Given the description of an element on the screen output the (x, y) to click on. 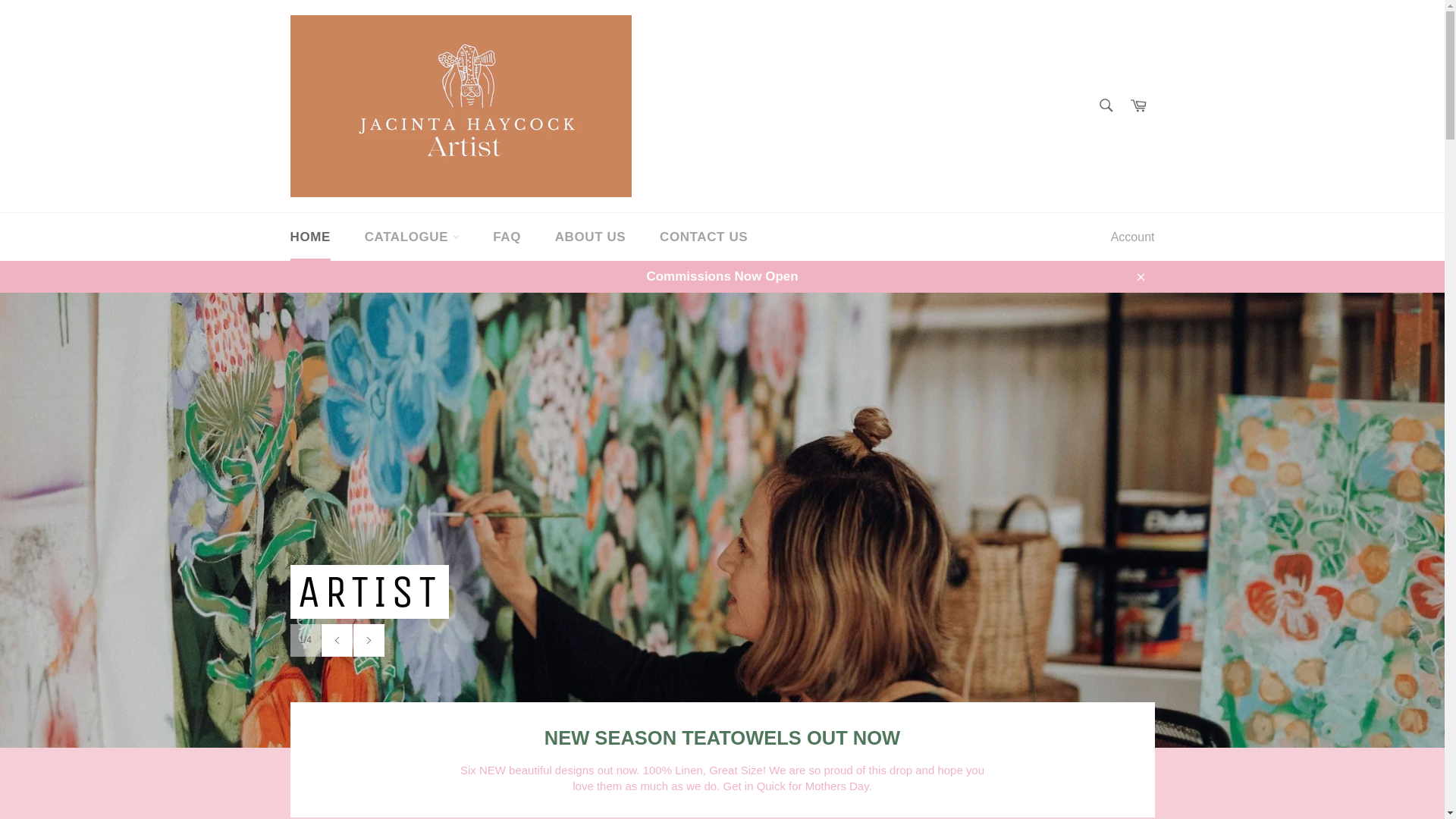
Previous slide Element type: text (336, 640)
CONTACT US Element type: text (703, 236)
CATALOGUE Element type: text (411, 236)
Close Element type: text (1138, 276)
ABOUT US Element type: text (590, 236)
FAQ Element type: text (506, 236)
Search Element type: text (1105, 105)
Cart Element type: text (1138, 106)
Account Element type: text (1132, 236)
Next slide Element type: text (368, 640)
HOME Element type: text (309, 236)
